Given the description of an element on the screen output the (x, y) to click on. 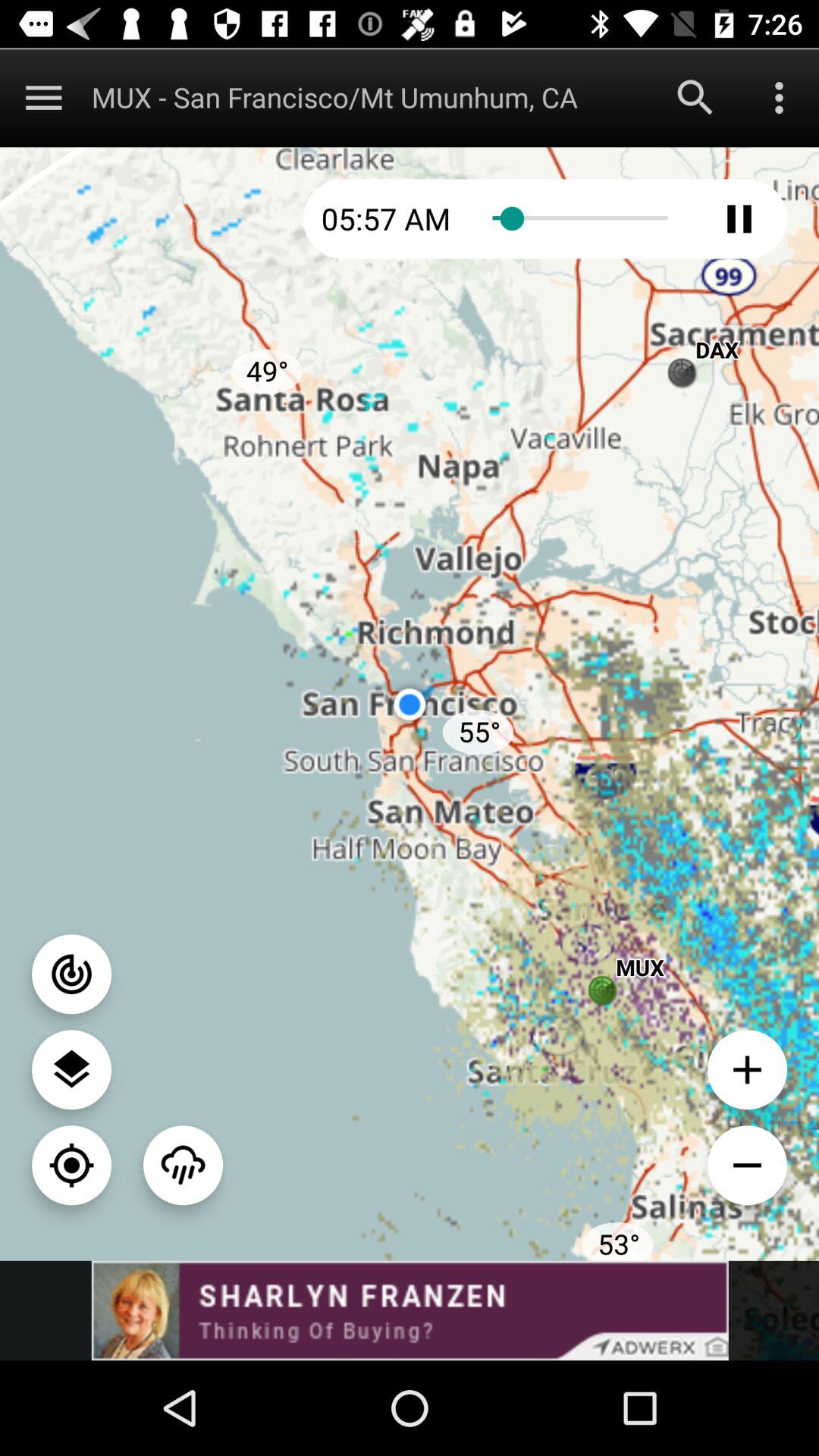
open menu (43, 97)
